Given the description of an element on the screen output the (x, y) to click on. 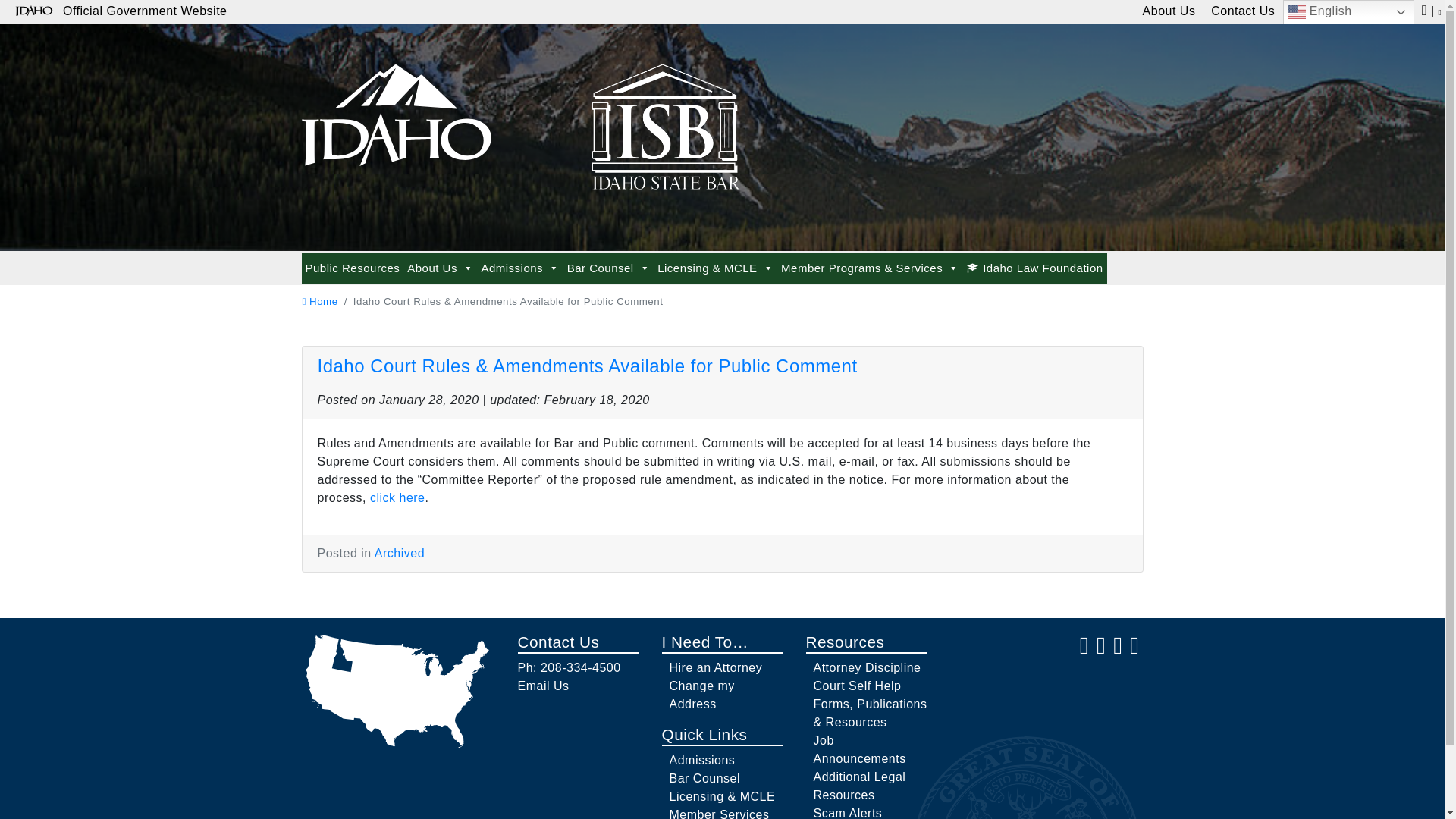
home (319, 301)
About Us (440, 268)
Contact Us (1243, 12)
Public Resources (352, 268)
State Bar (396, 107)
Admissions (519, 268)
English (1347, 12)
About Us (1169, 12)
Bar Counsel (608, 268)
